Given the description of an element on the screen output the (x, y) to click on. 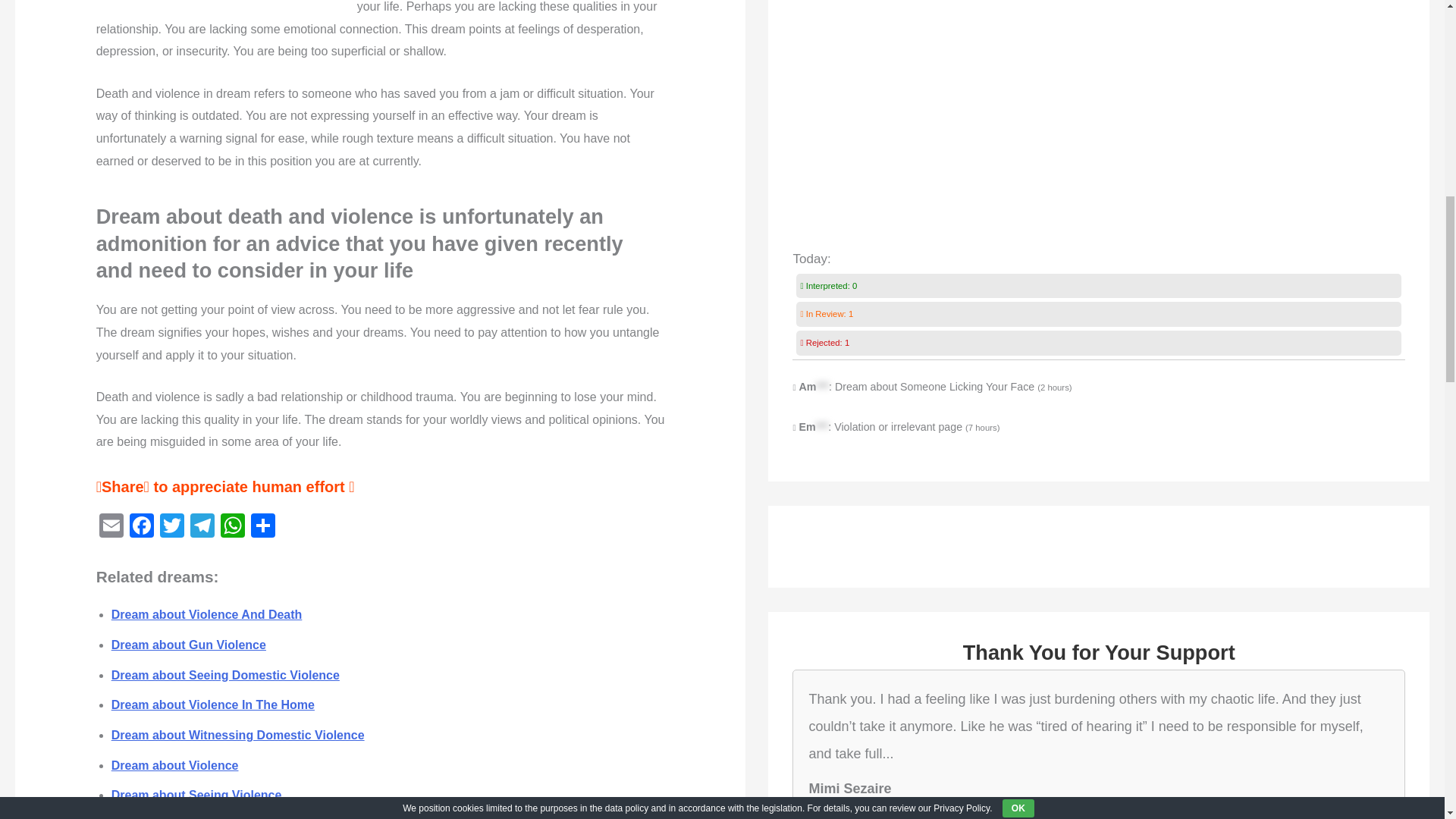
Dream about Seeing Violence (197, 794)
Telegram (201, 527)
Email (111, 527)
Twitter (172, 527)
Facebook (141, 527)
WhatsApp (231, 527)
Dream about Violence (175, 765)
Dream about Violence And Death (207, 614)
Email (111, 527)
Dream about Witnessing Domestic Violence (238, 735)
